Given the description of an element on the screen output the (x, y) to click on. 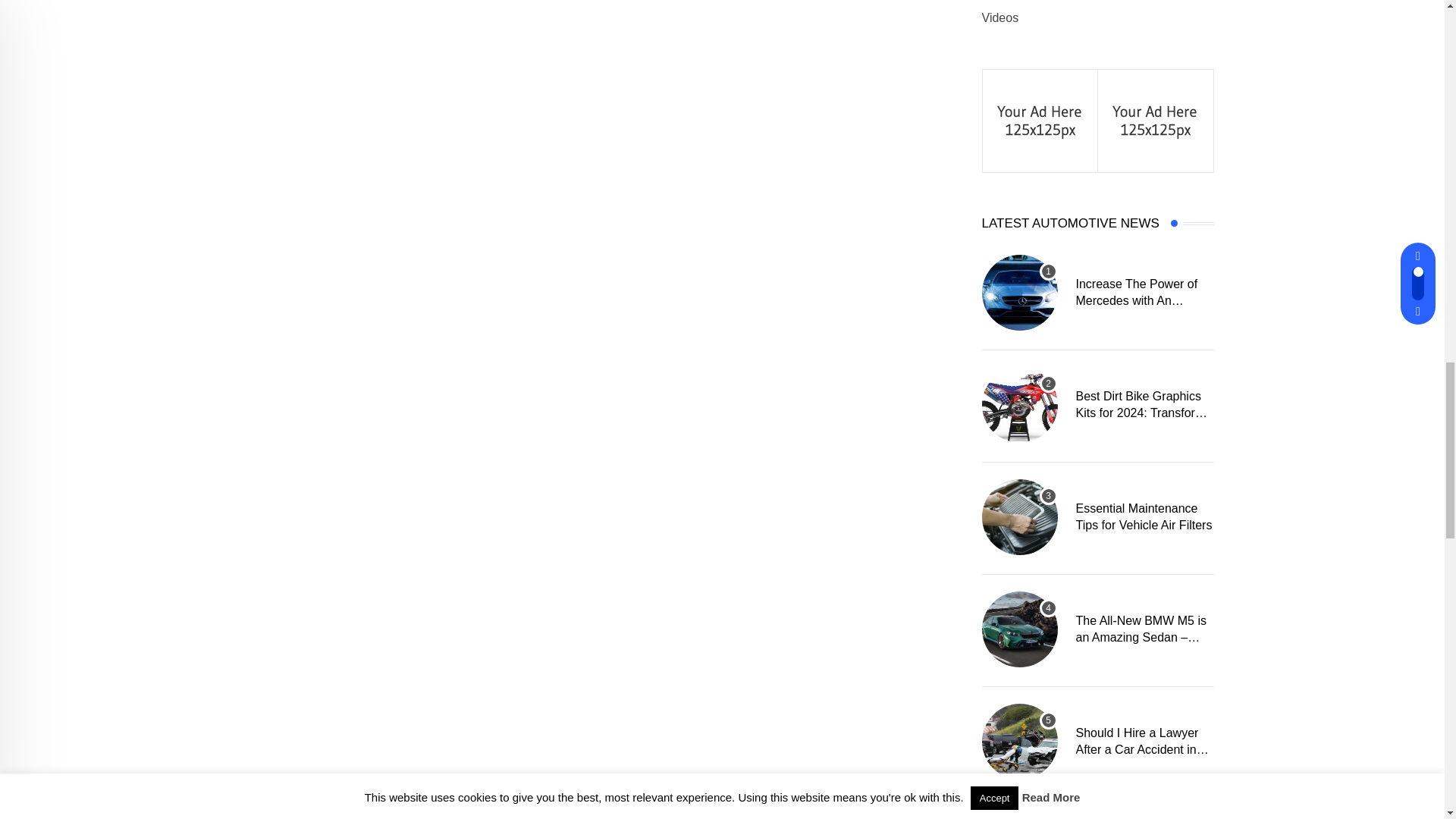
Essential Maintenance Tips for Vehicle Air Filters (1019, 517)
Advertise (1155, 119)
Increase The Power of Mercedes with An Chiptuning Ecu (1019, 292)
Should I Hire a Lawyer After a Car Accident in Dallas, TX? (1019, 741)
Best Dirt Bike Graphics Kits for 2024: Transform Your Ride (1019, 404)
Advertise (1039, 119)
